Given the description of an element on the screen output the (x, y) to click on. 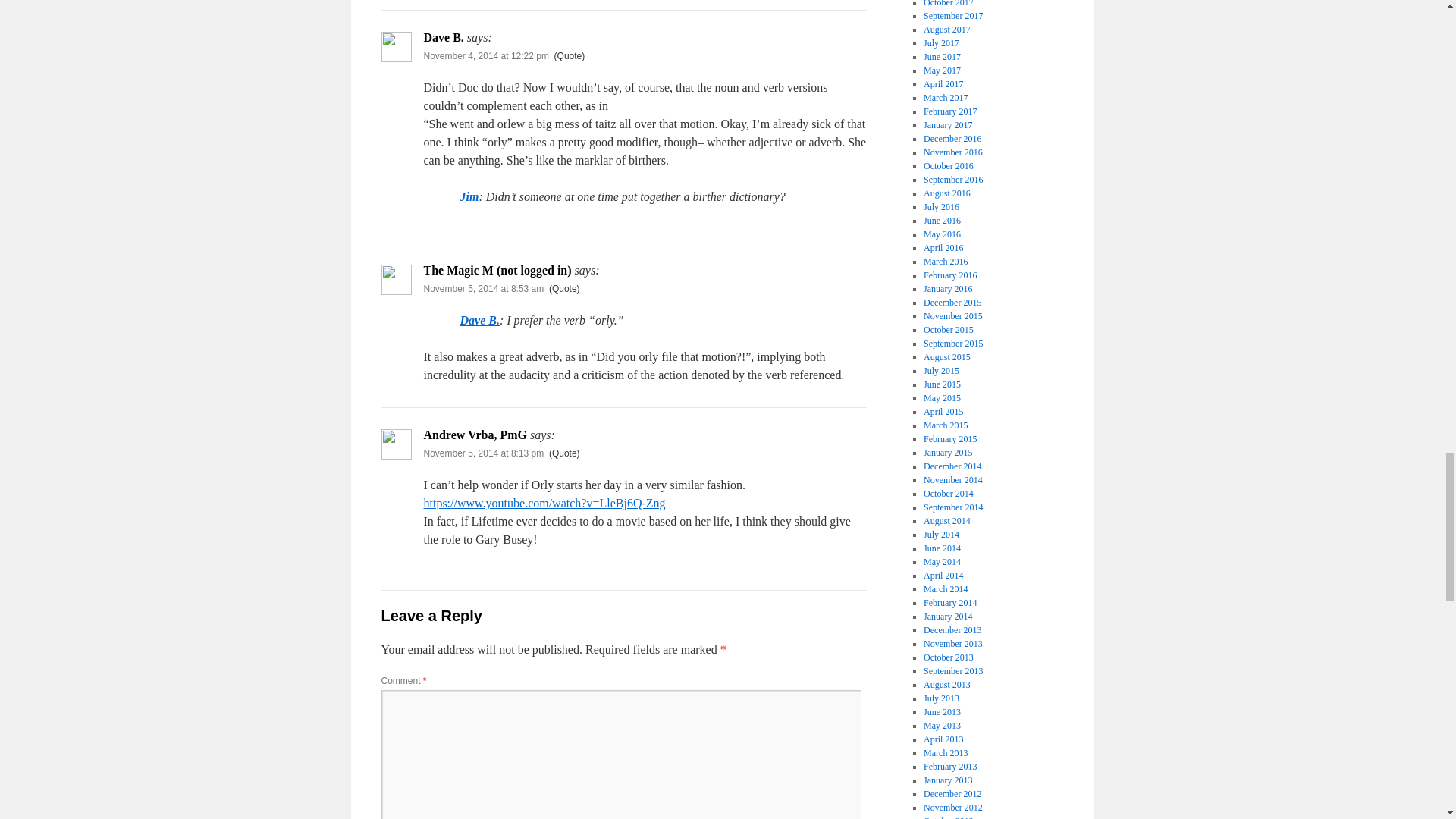
Click here or select text to quote comment (569, 55)
